Given the description of an element on the screen output the (x, y) to click on. 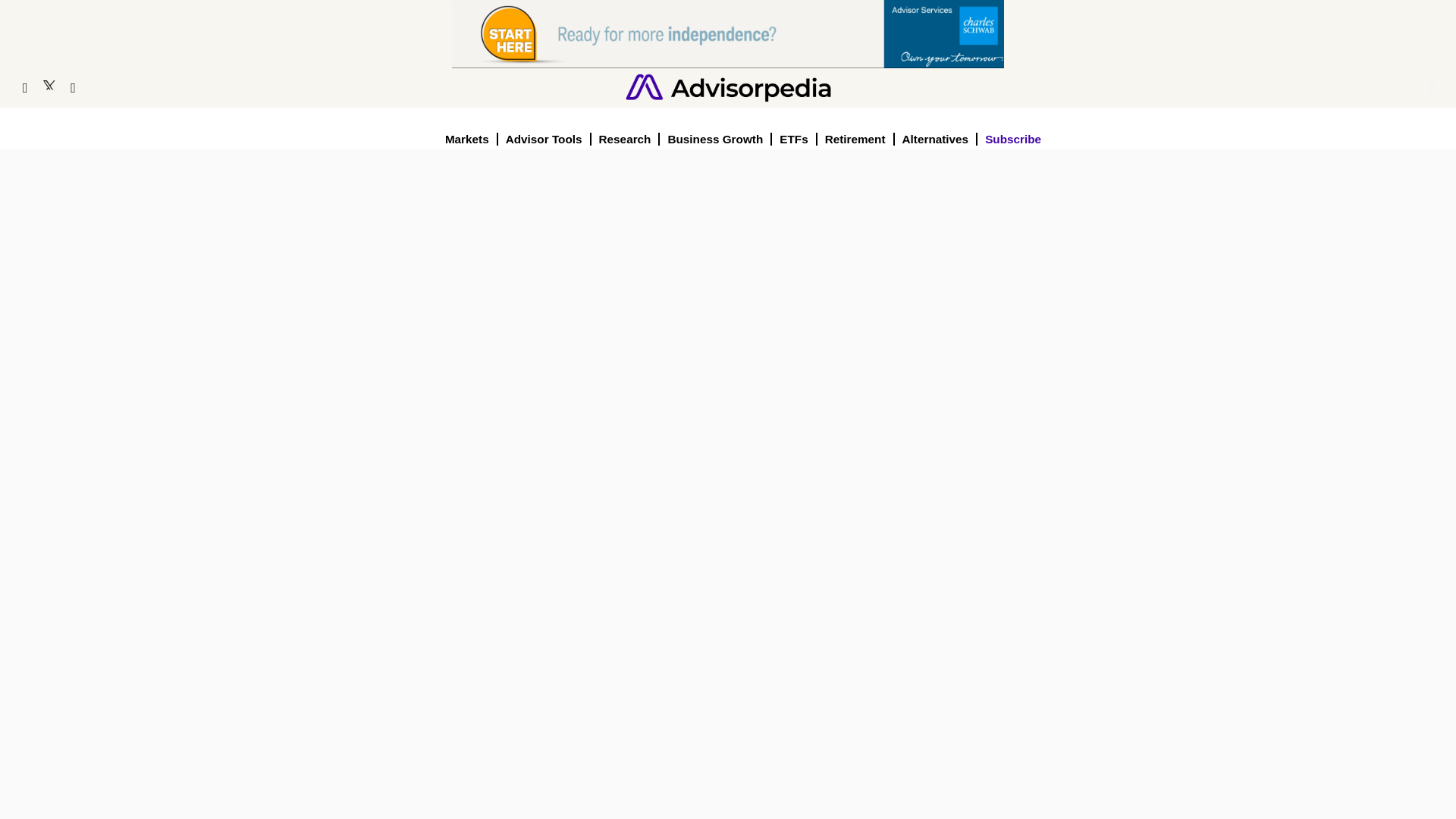
Business Growth (715, 138)
Alternatives (936, 138)
Markets (467, 138)
Advisor Tools (544, 138)
Research (626, 138)
ETFs (793, 138)
Retirement (855, 138)
Subscribe (1012, 138)
Home (727, 87)
